Given the description of an element on the screen output the (x, y) to click on. 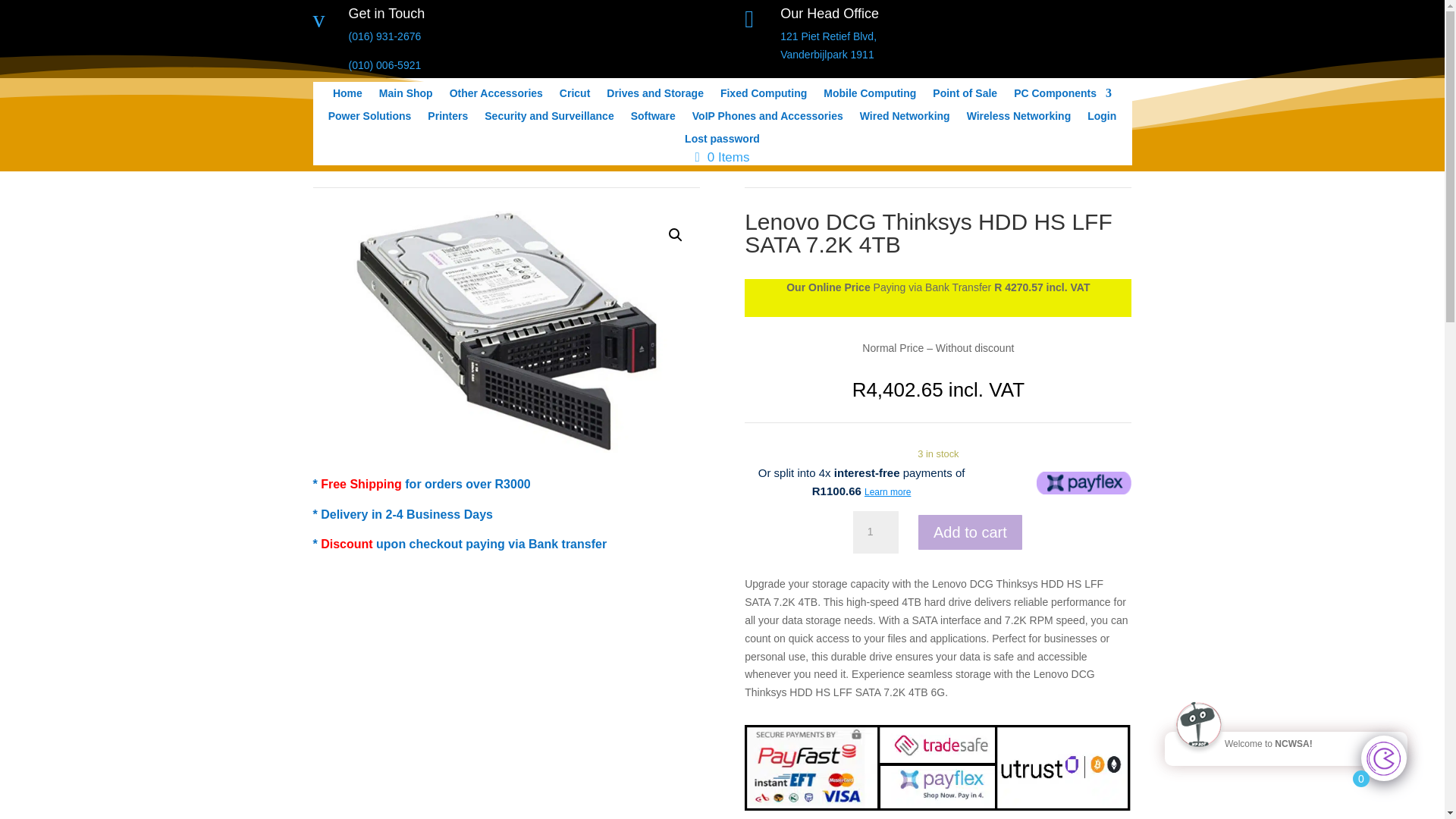
Wired Networking (905, 118)
Payments (937, 767)
Drives and Storage (655, 95)
Wireless Networking (828, 45)
Cricut (1018, 118)
Point of Sale (574, 95)
Main Shop (965, 95)
PC Components (405, 95)
Printers (1062, 95)
Lost password (447, 118)
7XB7A00051 (722, 141)
VoIP Phones and Accessories (505, 331)
1 (768, 118)
Mobile Computing (875, 532)
